Given the description of an element on the screen output the (x, y) to click on. 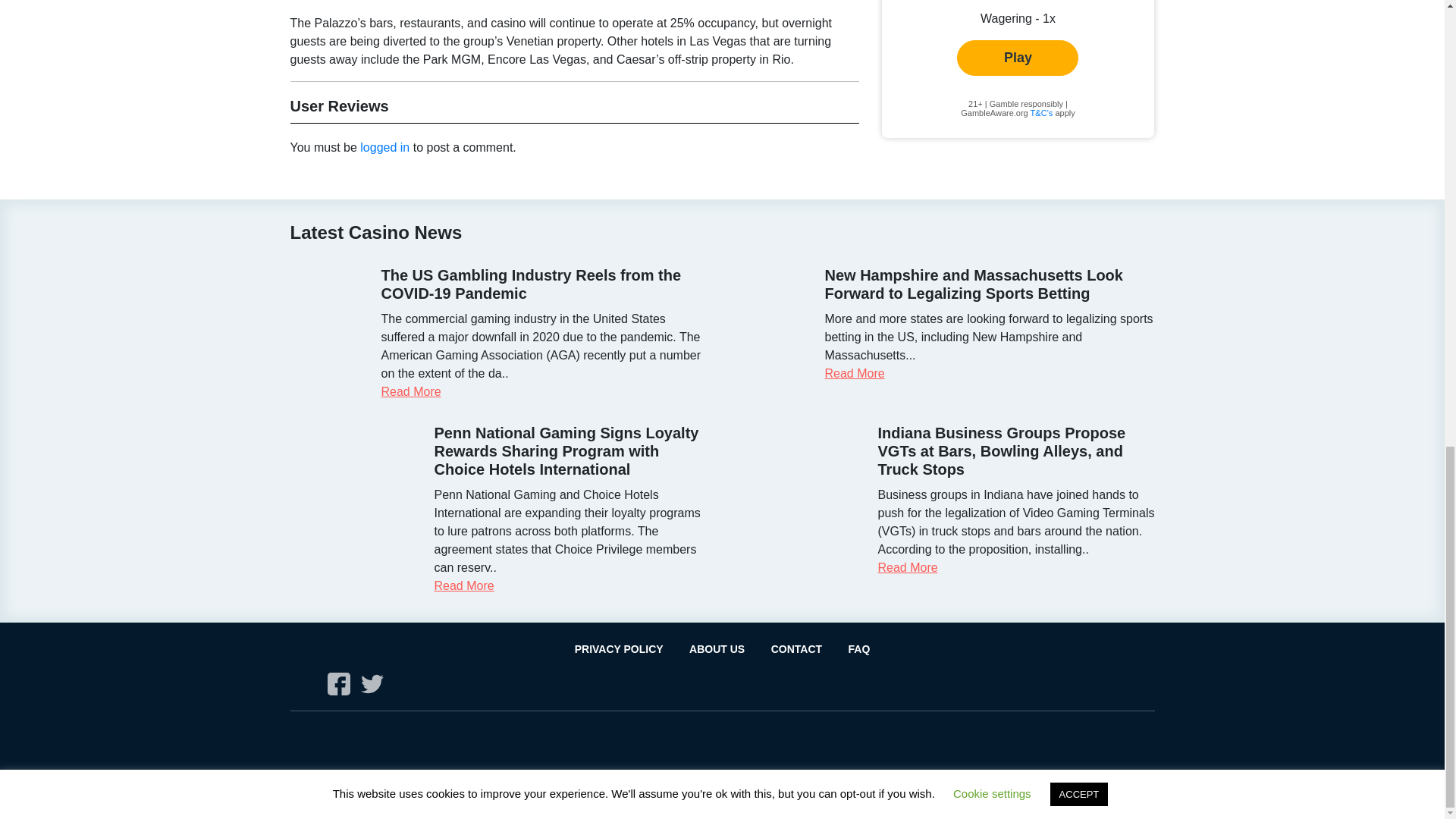
Read More (855, 373)
Read More (463, 585)
Read More (410, 391)
Read More (907, 567)
maestro (381, 745)
logged in (384, 146)
